Given the description of an element on the screen output the (x, y) to click on. 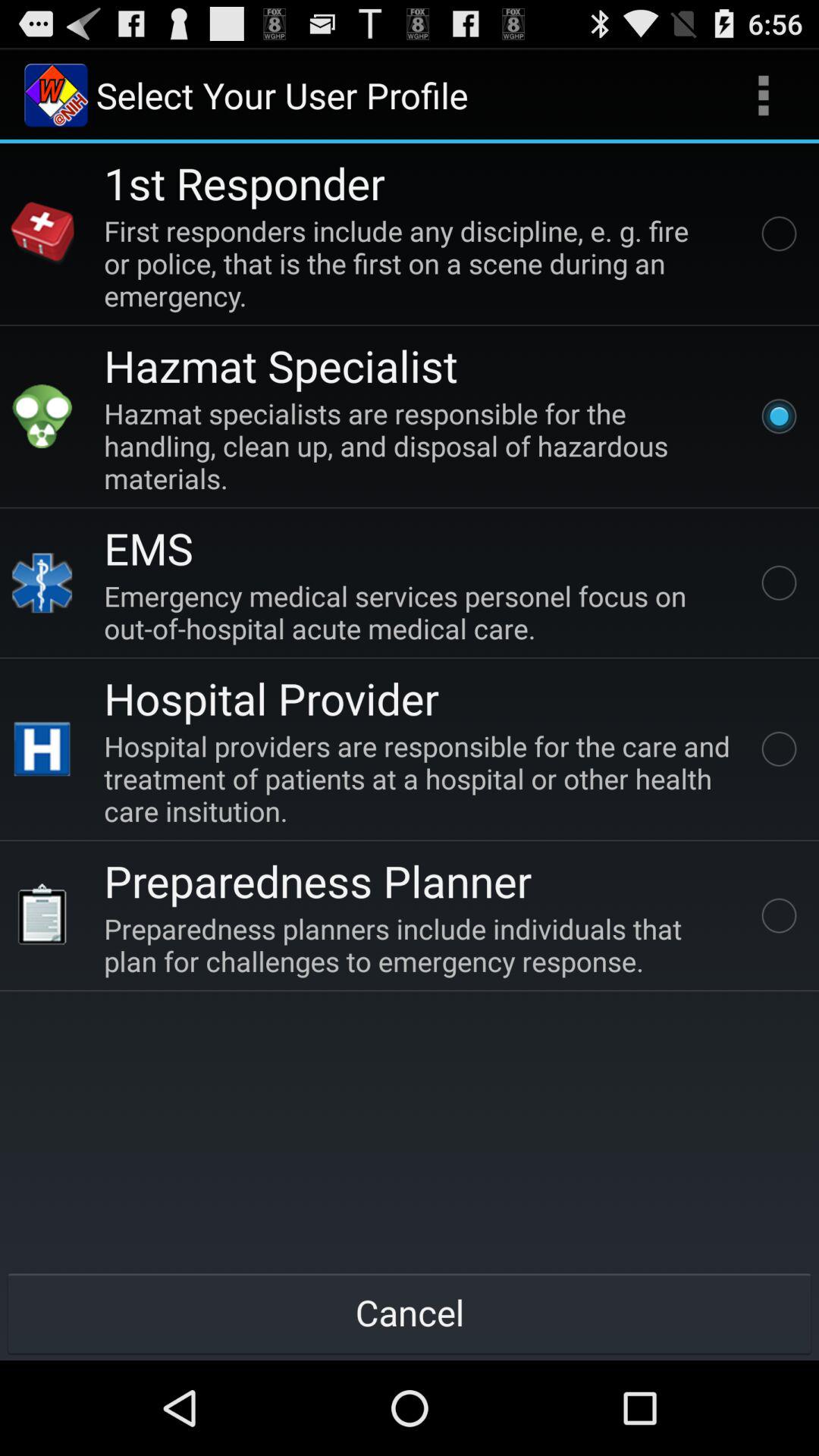
select the hospital provider icon (42, 748)
click on the icon below the notification bar (55, 95)
select the ems logo (42, 582)
